Given the description of an element on the screen output the (x, y) to click on. 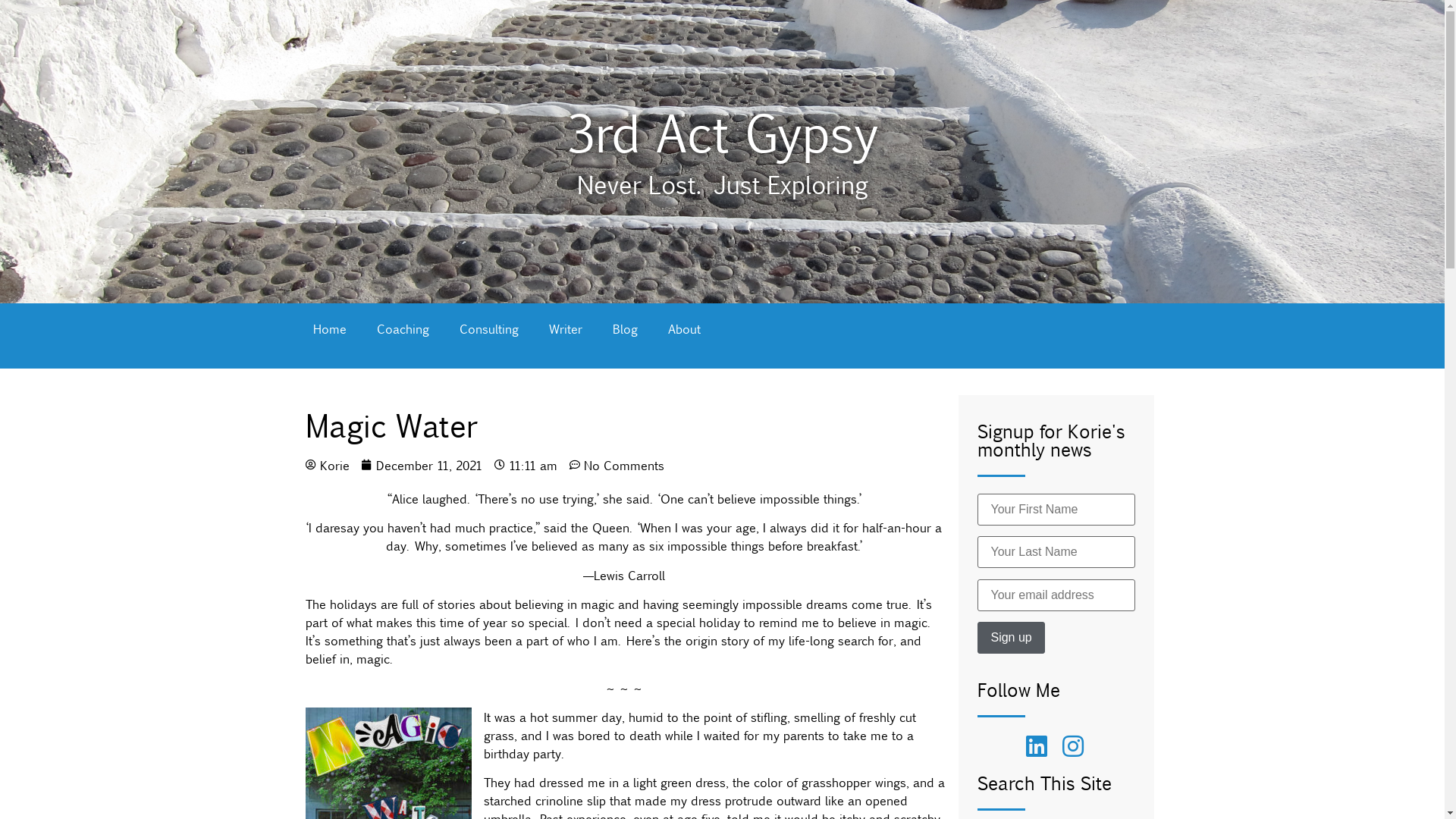
Writer Element type: text (565, 327)
Sign up Element type: text (1010, 637)
December 11, 2021 Element type: text (420, 464)
No Comments Element type: text (615, 464)
Blog Element type: text (624, 327)
Korie Element type: text (326, 464)
Coaching Element type: text (401, 327)
Home Element type: text (328, 327)
About Element type: text (683, 327)
Consulting Element type: text (488, 327)
